Given the description of an element on the screen output the (x, y) to click on. 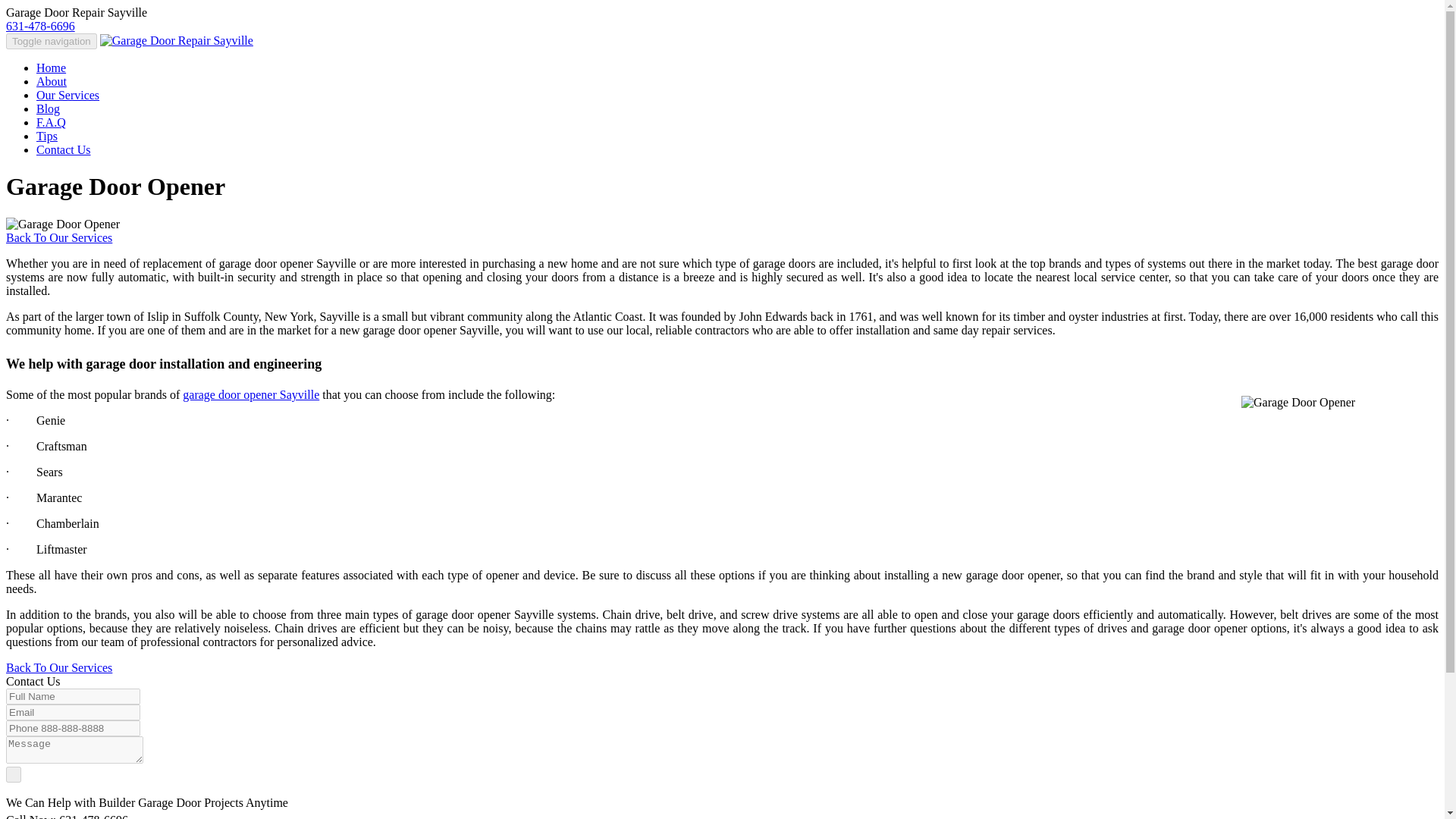
631-478-6696 (40, 25)
garage door opener Sayville (250, 394)
Back To Our Services (58, 667)
About (51, 81)
Our Services (67, 94)
Back To Our Services (58, 237)
Blog (47, 108)
Contact Us (63, 149)
